Given the description of an element on the screen output the (x, y) to click on. 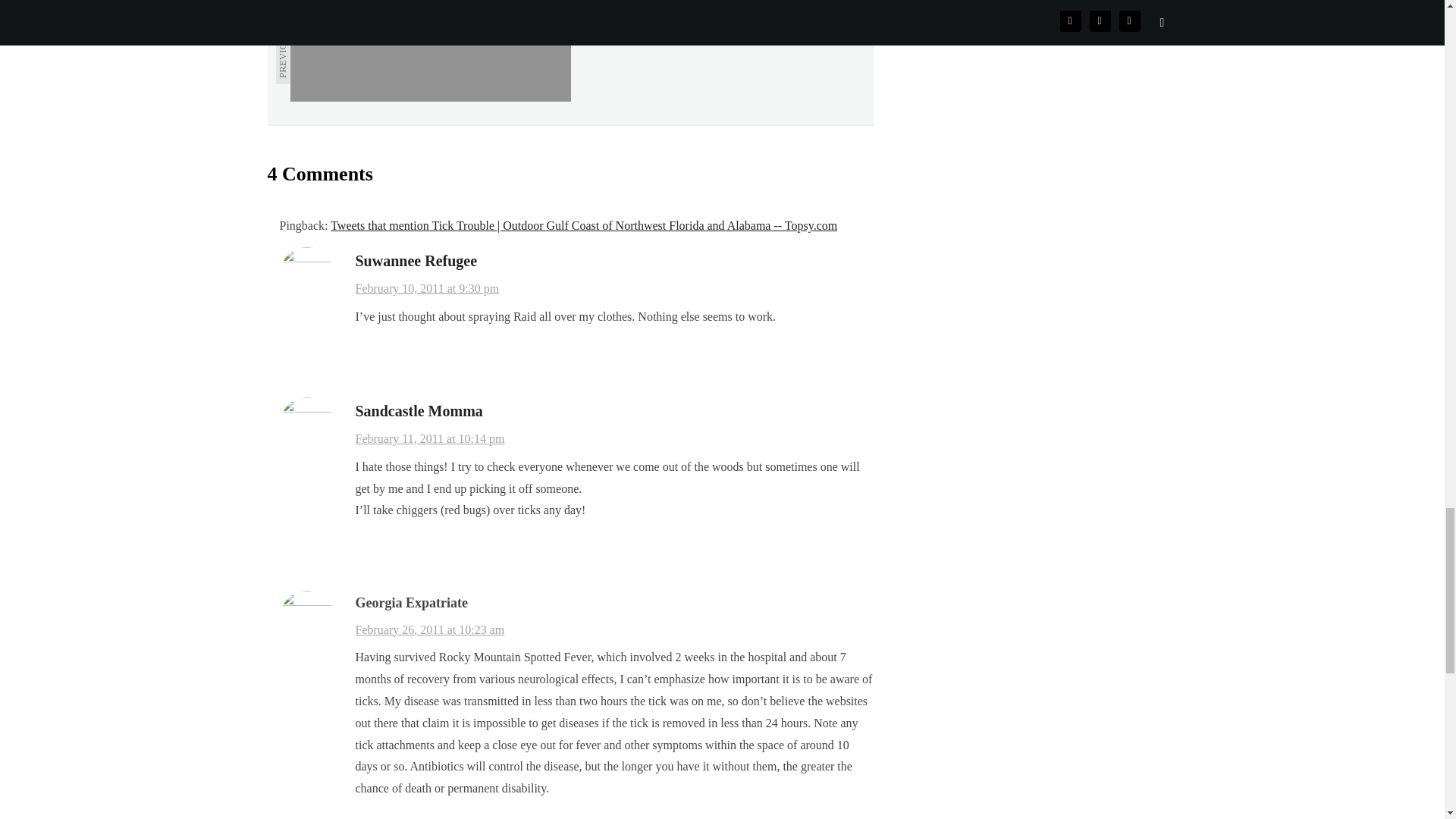
Fish Donations Needed (429, 50)
